Given the description of an element on the screen output the (x, y) to click on. 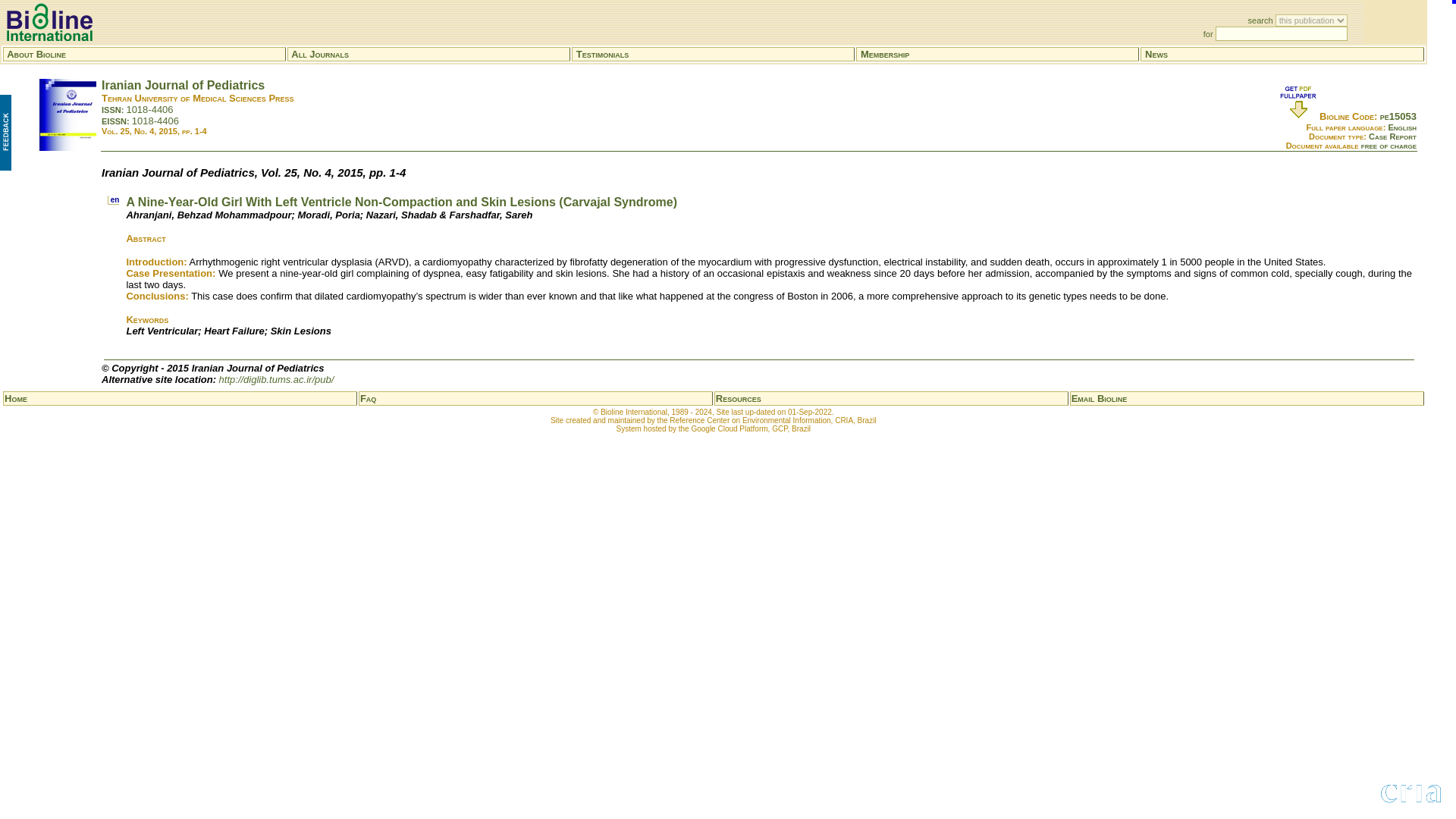
News (1155, 53)
Testimonials (602, 53)
Email Bioline (1098, 398)
1018-4406 (149, 109)
Home (15, 398)
Membership (884, 53)
About Bioline (36, 53)
All Journals (320, 53)
Resources (738, 398)
Faq (367, 398)
1018-4406 (155, 120)
